Given the description of an element on the screen output the (x, y) to click on. 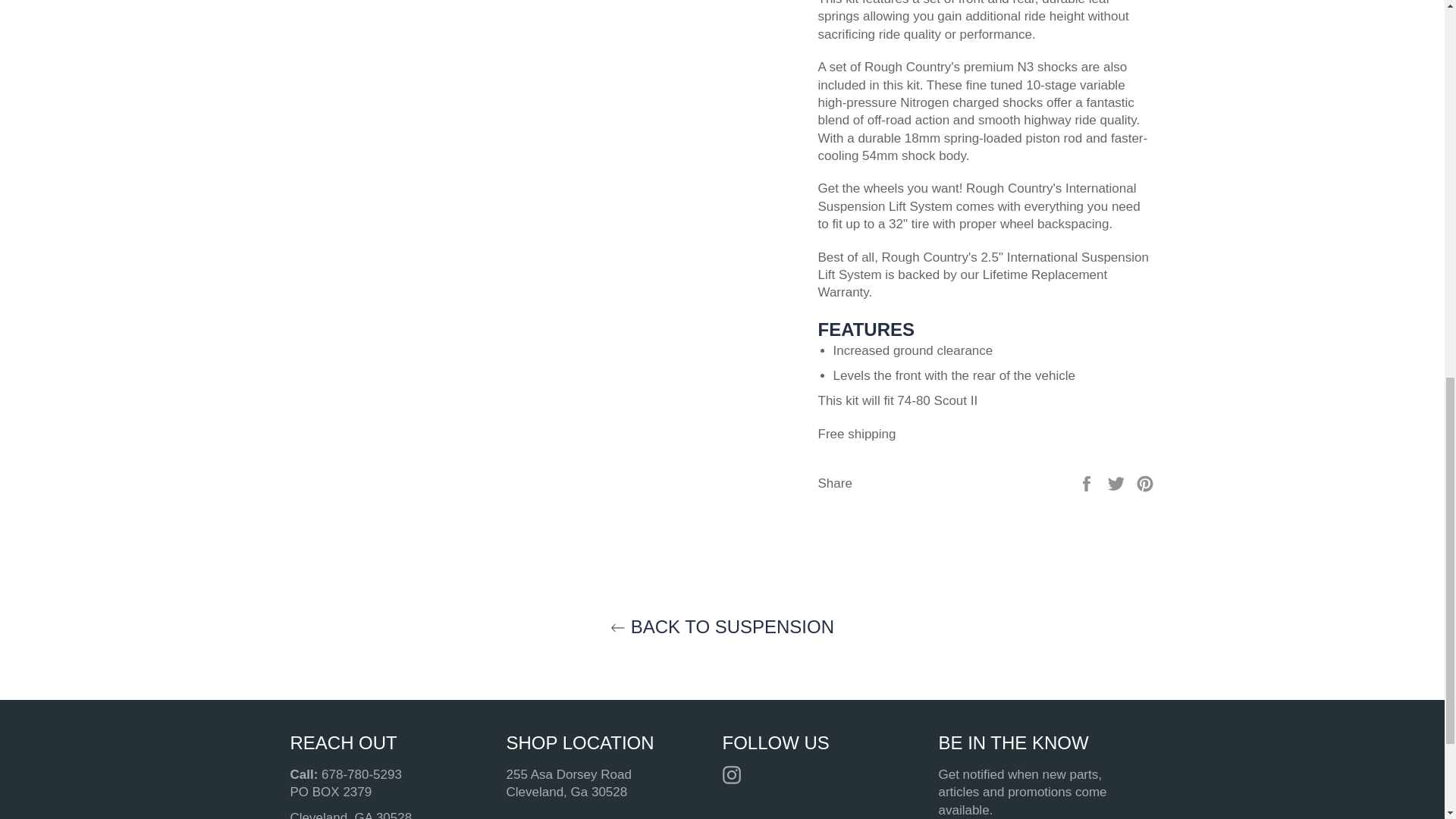
Tweet on Twitter (1117, 482)
Pin on Pinterest (1144, 482)
GRC Fabrication on Instagram (735, 774)
Share on Facebook (1088, 482)
